Given the description of an element on the screen output the (x, y) to click on. 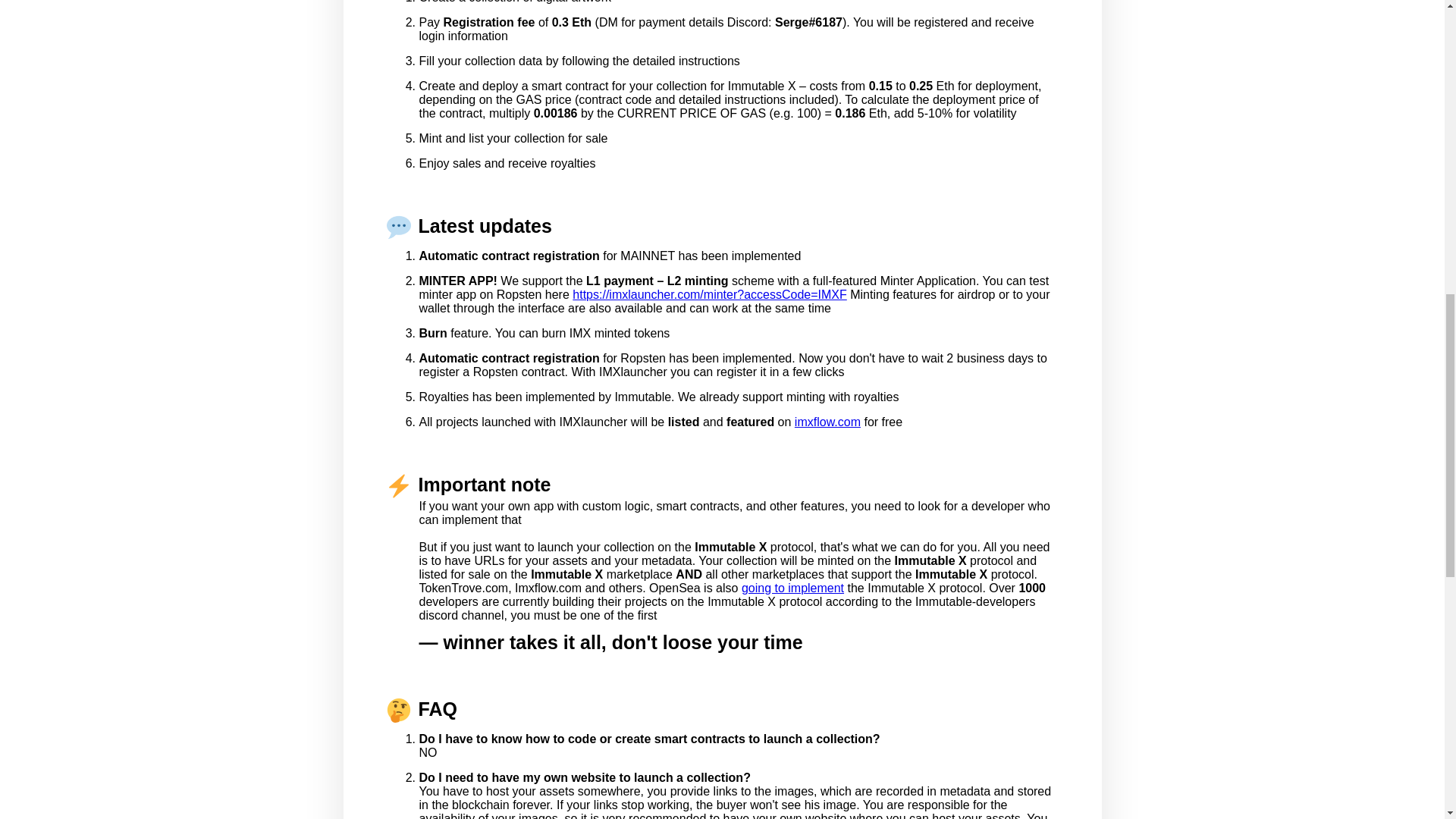
going to implement (792, 587)
imxflow.com (827, 421)
